Given the description of an element on the screen output the (x, y) to click on. 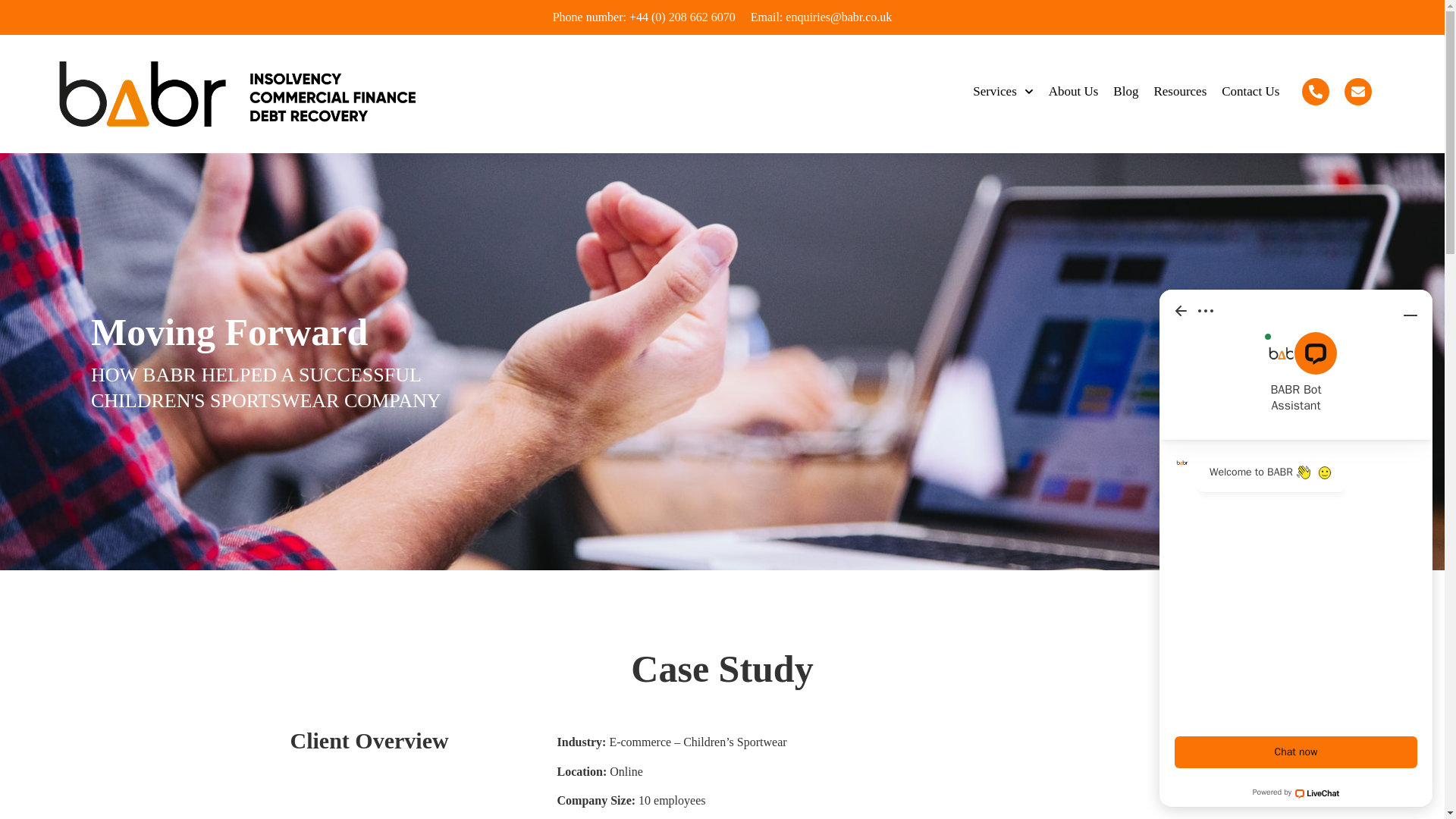
Resources (1179, 91)
Contact Us (1250, 91)
About Us (1073, 91)
Blog (1125, 91)
Services (1003, 91)
